Given the description of an element on the screen output the (x, y) to click on. 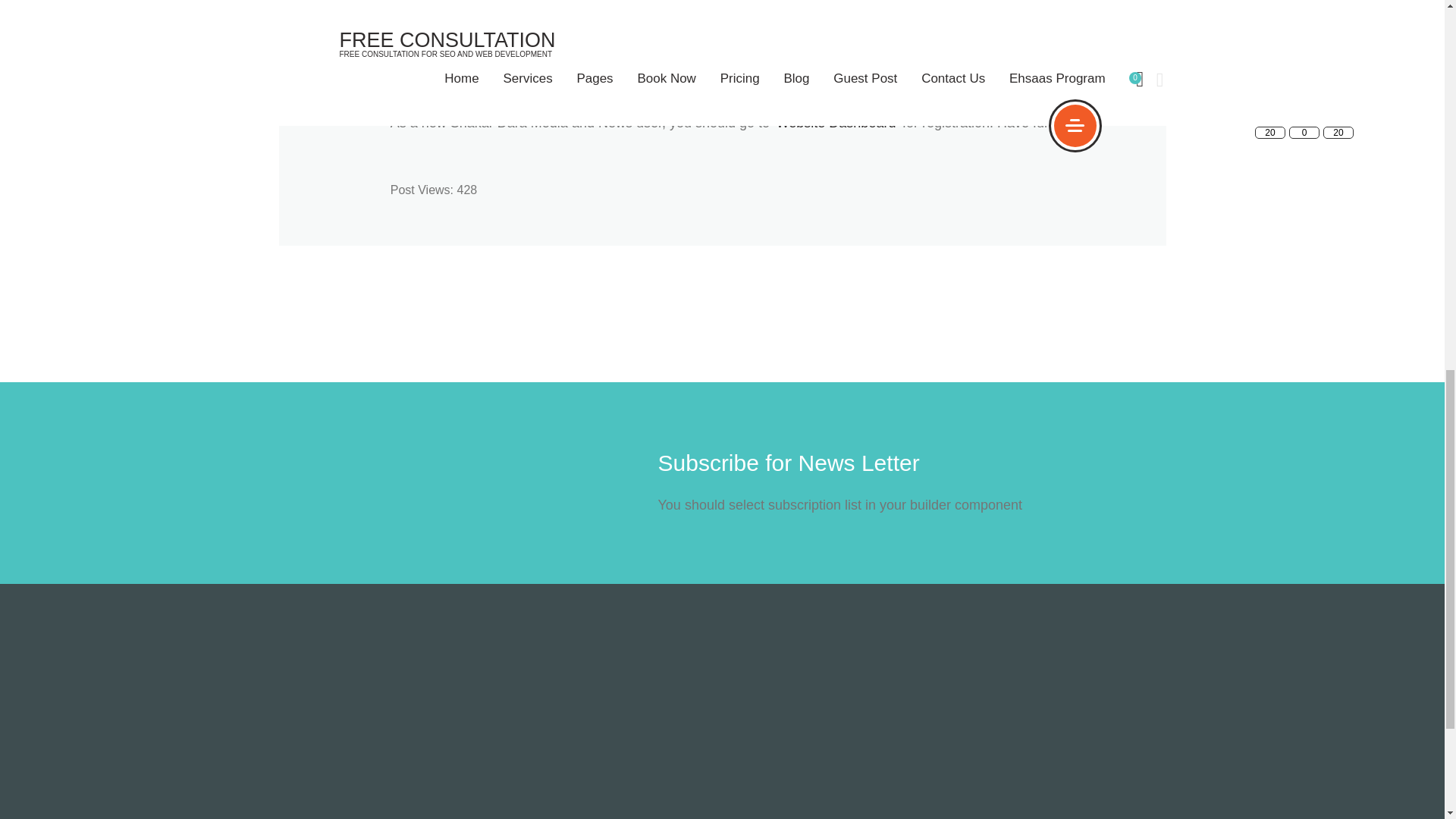
Facebook (1338, 108)
Follow by Email (1303, 108)
RSS (1270, 108)
